Given the description of an element on the screen output the (x, y) to click on. 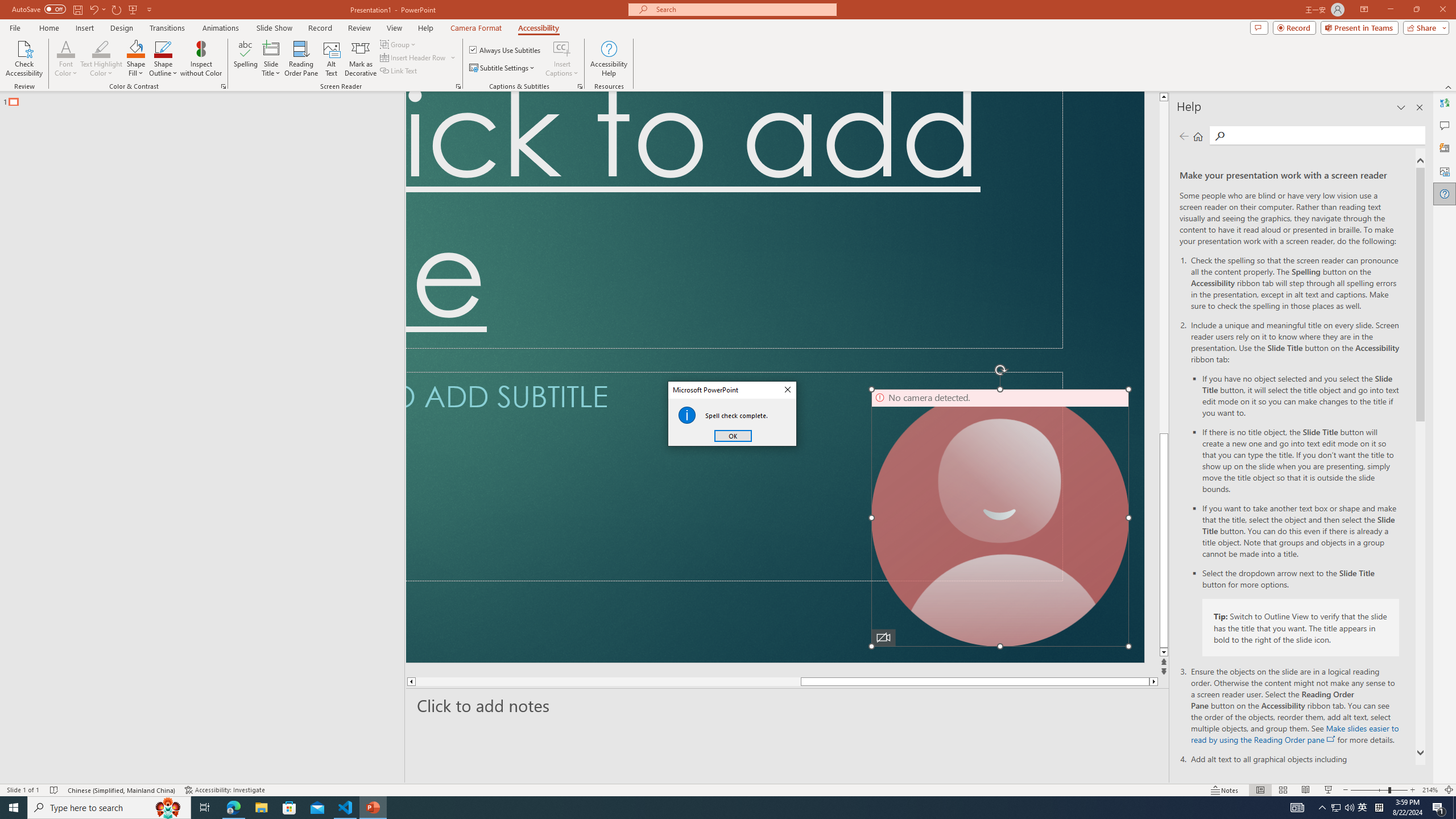
Screen Reader (458, 85)
